Given the description of an element on the screen output the (x, y) to click on. 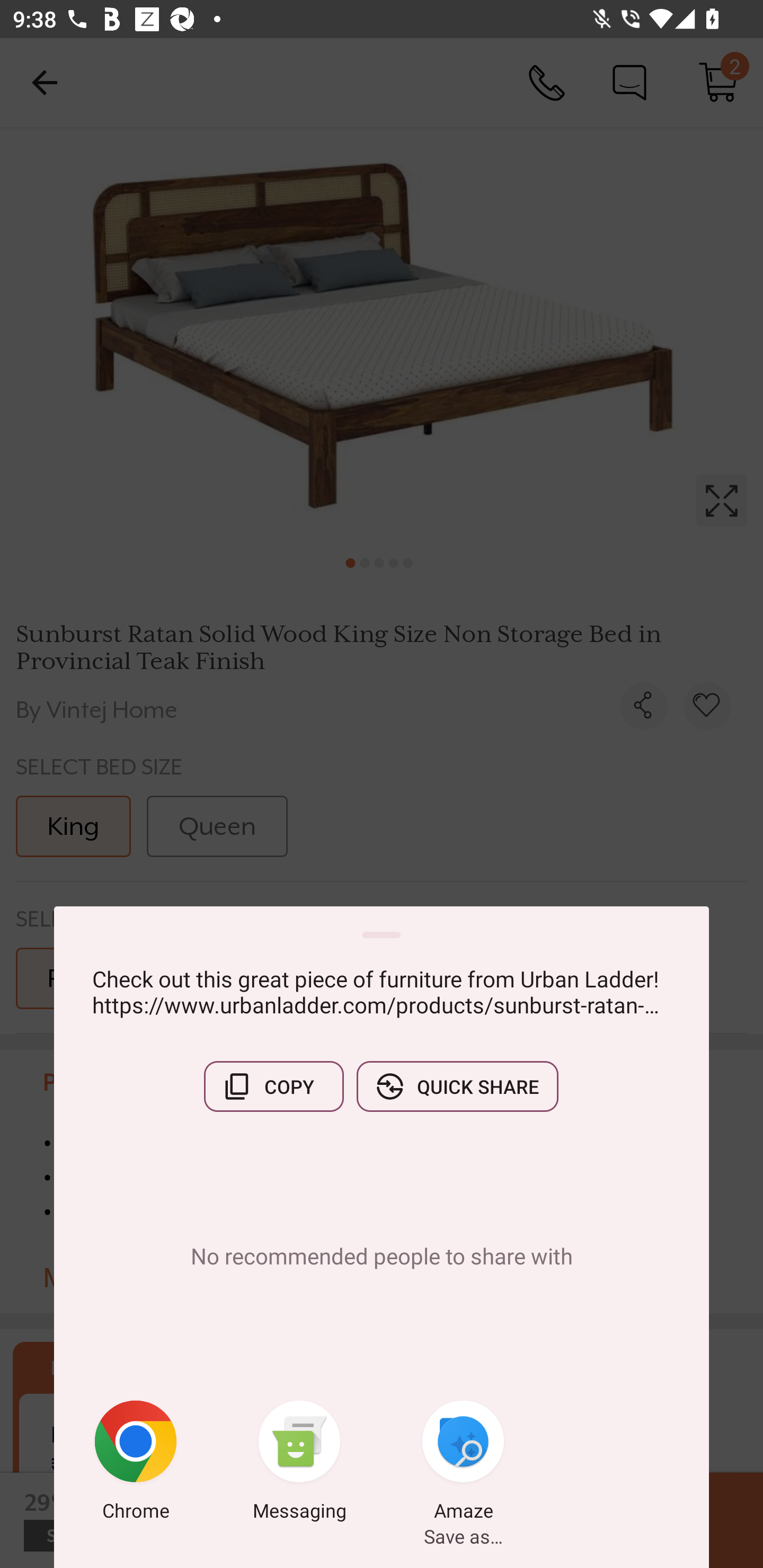
COPY (273, 1086)
QUICK SHARE (457, 1086)
Chrome (135, 1463)
Messaging (299, 1463)
Amaze Save as… (463, 1463)
